Given the description of an element on the screen output the (x, y) to click on. 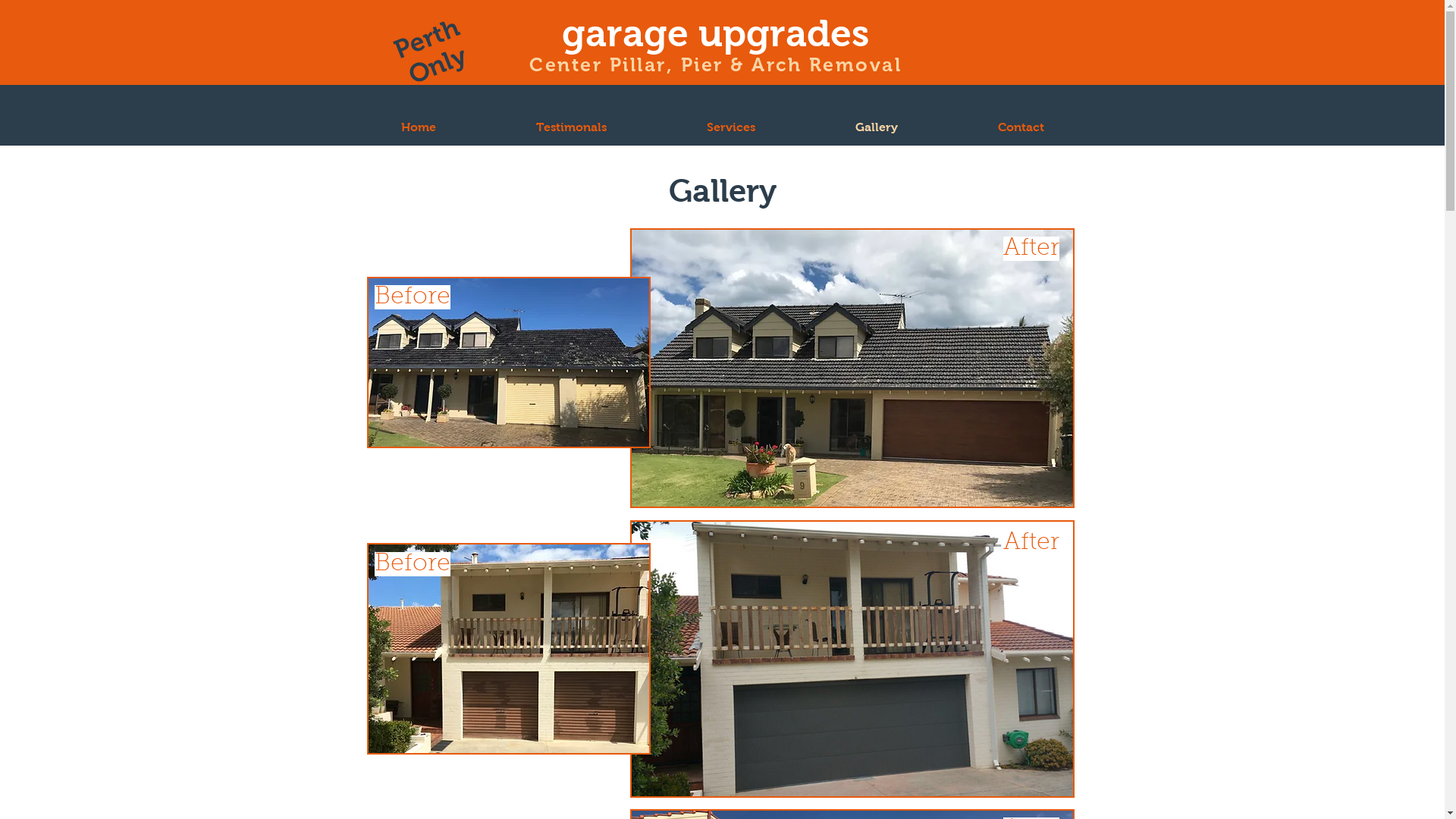
Testimonals Element type: text (570, 126)
garage upgrades Element type: text (715, 32)
Contact Element type: text (1020, 126)
Services Element type: text (730, 126)
Gallery Element type: text (876, 126)
Home Element type: text (417, 126)
